Given the description of an element on the screen output the (x, y) to click on. 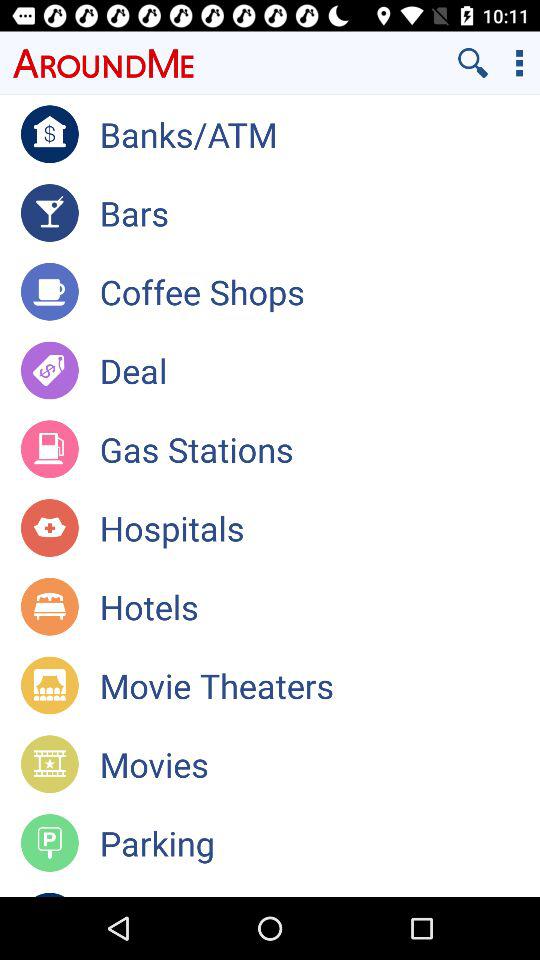
search button (473, 62)
